Given the description of an element on the screen output the (x, y) to click on. 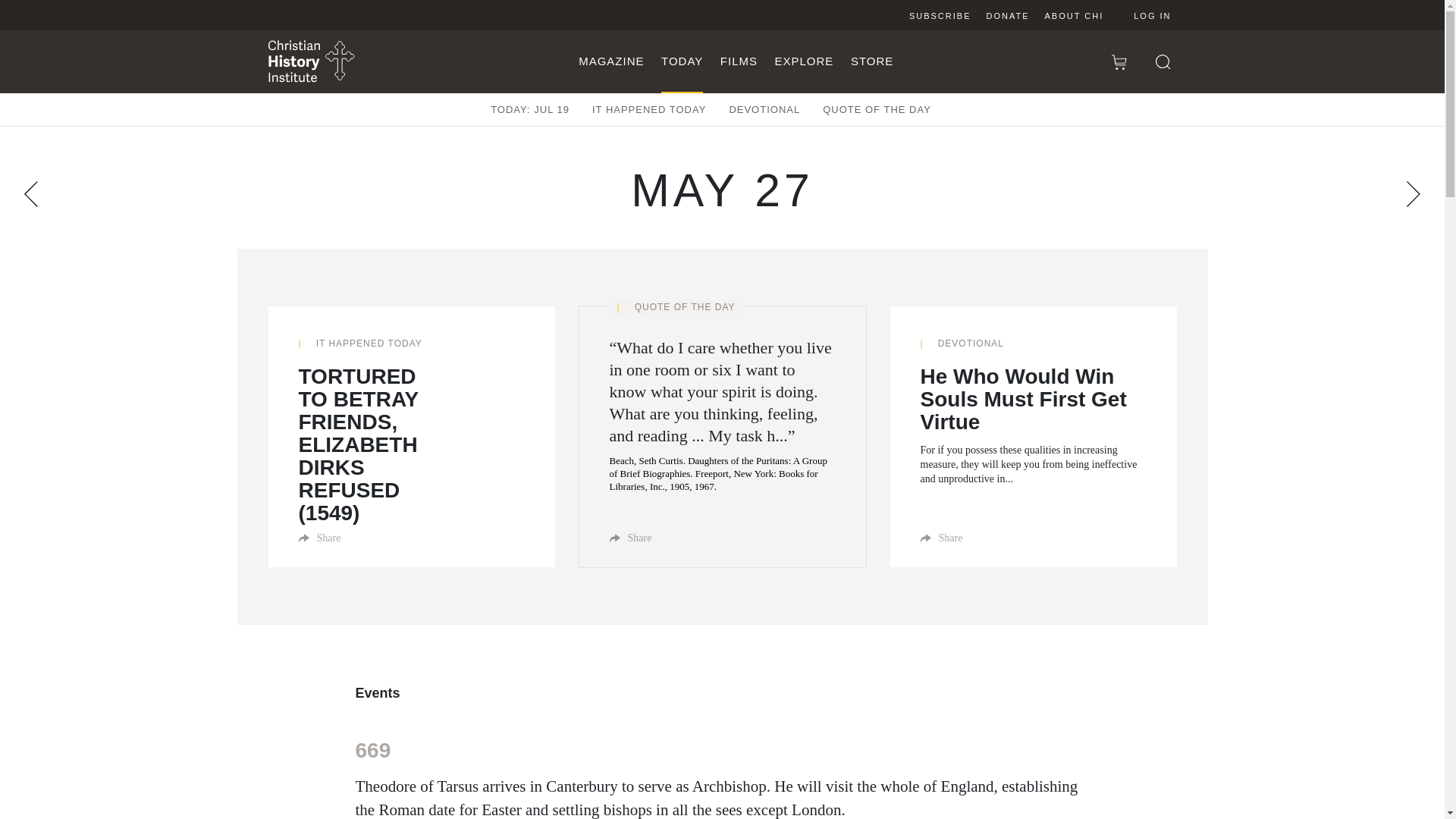
EXPLORE (804, 61)
He Who Would Win Souls Must First Get Virtue (1033, 399)
TODAY: JUL 19 (529, 109)
QUOTE OF THE DAY (876, 109)
SUBSCRIBE (939, 15)
ABOUT CHI (1074, 15)
DEVOTIONAL (764, 109)
LOG IN (1140, 15)
MAGAZINE (610, 61)
DONATE (1007, 15)
IT HAPPENED TODAY (649, 109)
